Given the description of an element on the screen output the (x, y) to click on. 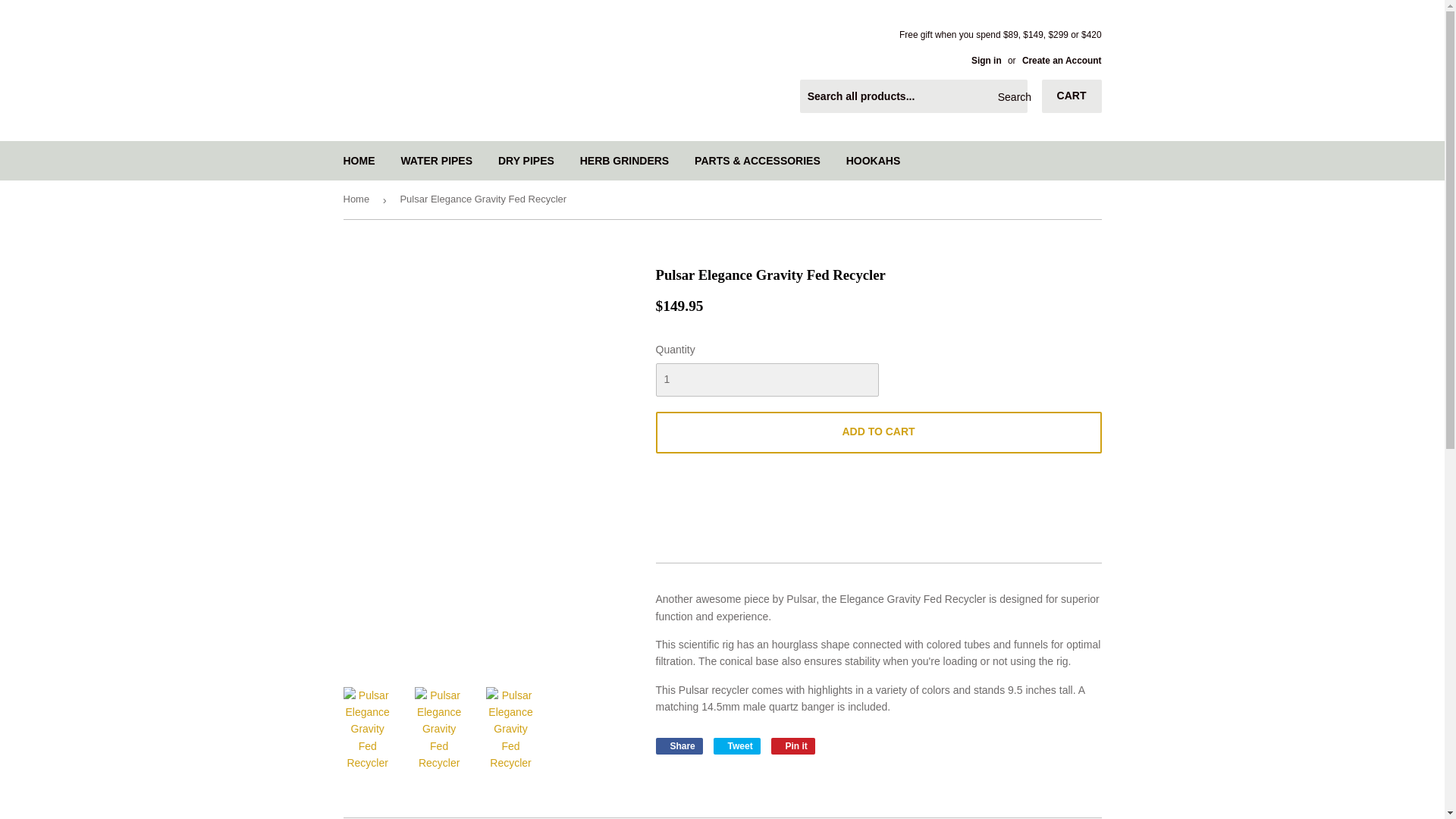
HOME (359, 160)
Search (1009, 97)
HOOKAHS (873, 160)
Sign in (986, 60)
Tweet on Twitter (736, 745)
HERB GRINDERS (624, 160)
CART (1072, 96)
Share on Facebook (678, 745)
Create an Account (1062, 60)
Pin on Pinterest (793, 745)
1 (766, 379)
DRY PIPES (526, 160)
WATER PIPES (435, 160)
